Given the description of an element on the screen output the (x, y) to click on. 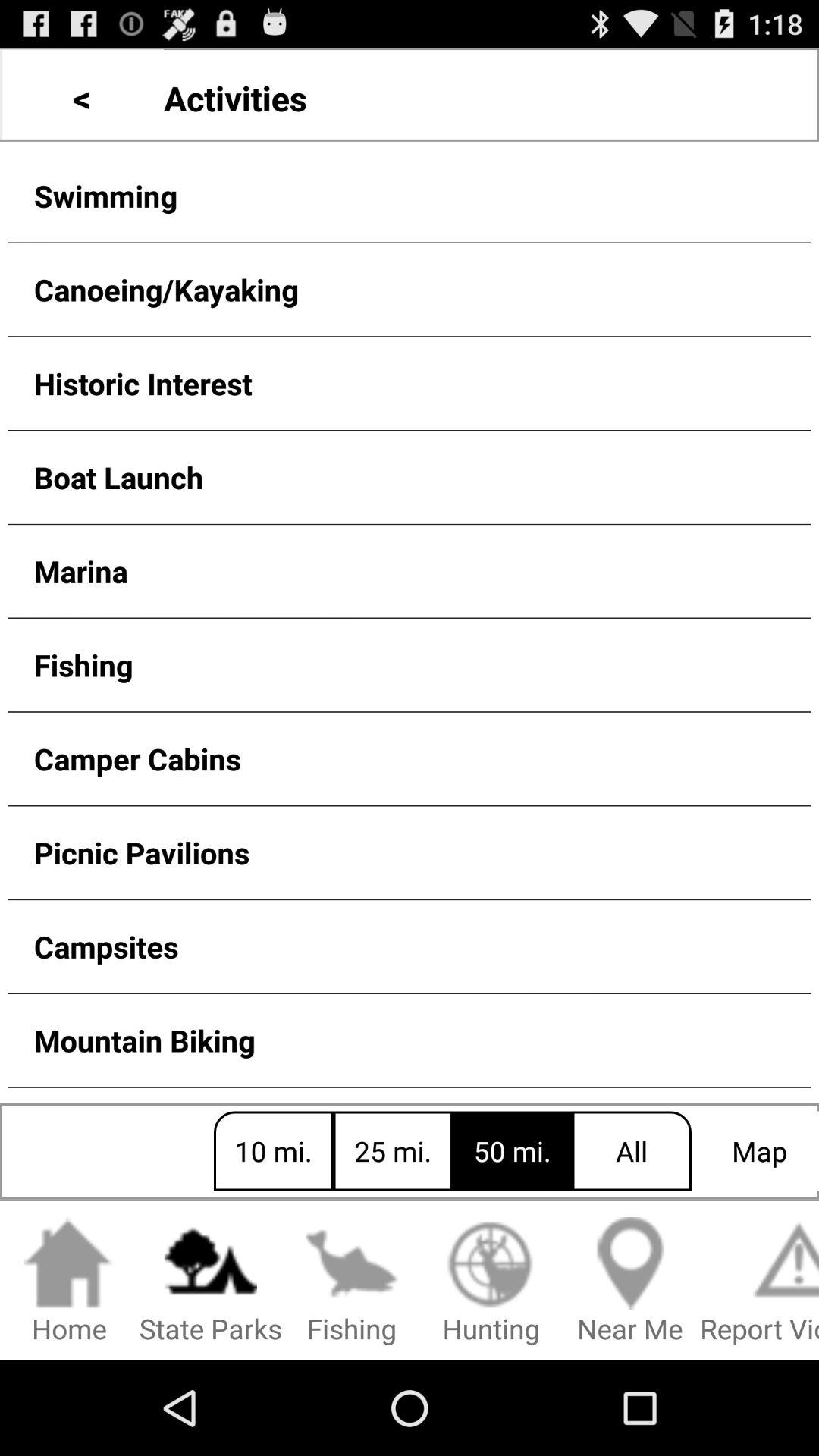
turn on home (69, 1282)
